Given the description of an element on the screen output the (x, y) to click on. 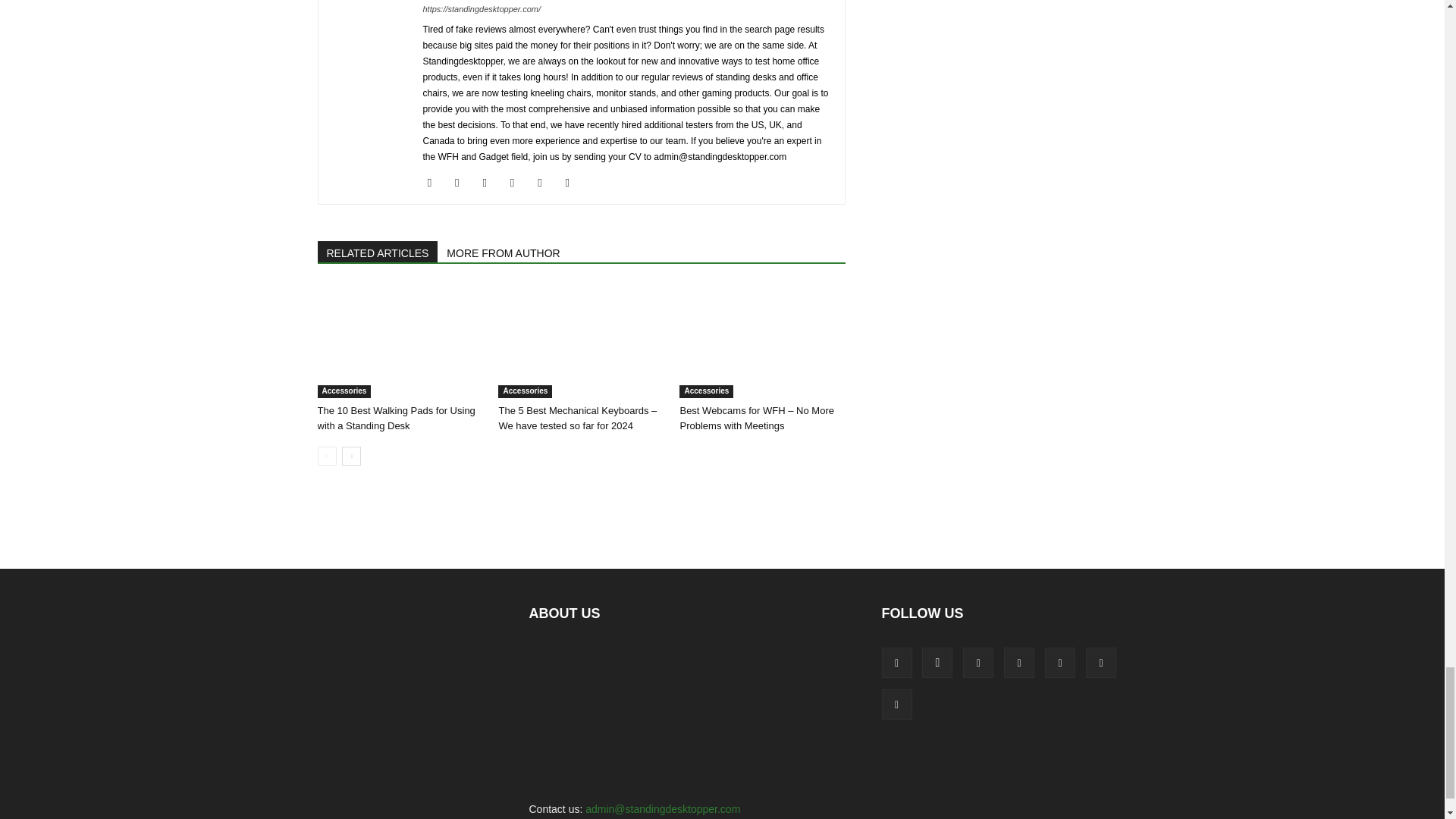
Reddit (544, 182)
Mail (489, 182)
Facebook (435, 182)
Instagram (462, 182)
Pinterest (518, 182)
